Given the description of an element on the screen output the (x, y) to click on. 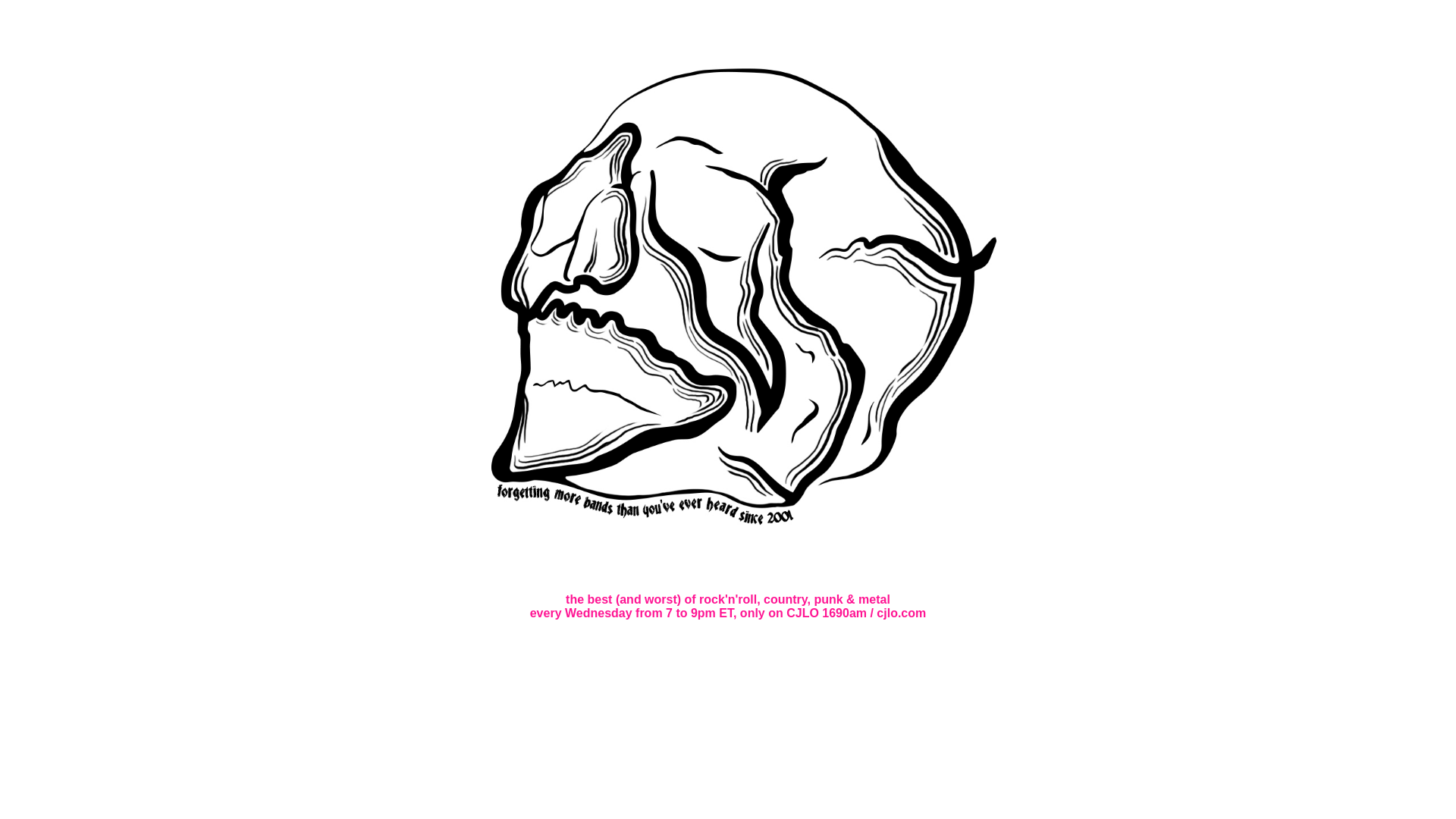
CJLO 1690am / cjlo.com Element type: text (855, 612)
